Given the description of an element on the screen output the (x, y) to click on. 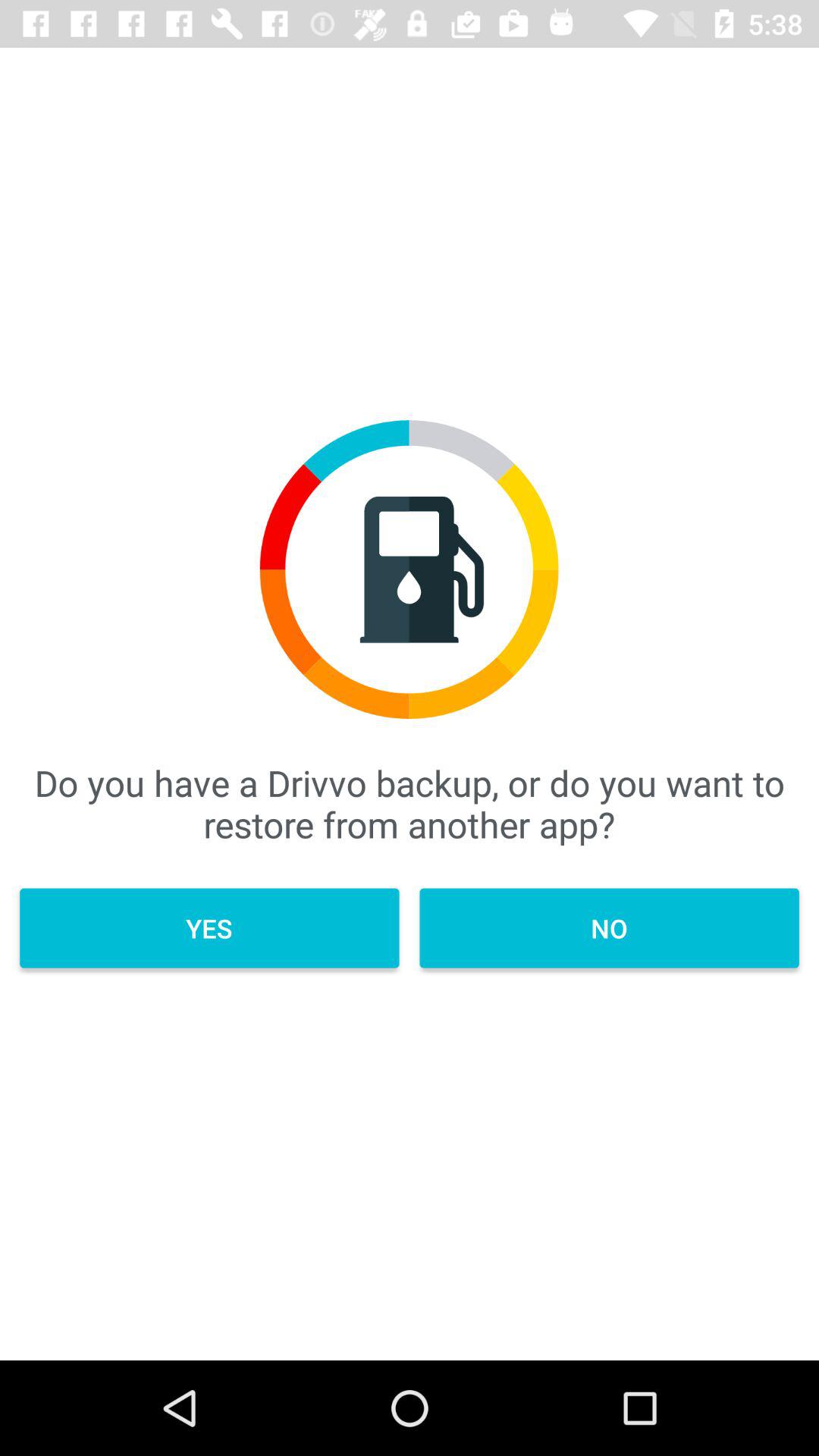
select icon below do you have icon (609, 928)
